Given the description of an element on the screen output the (x, y) to click on. 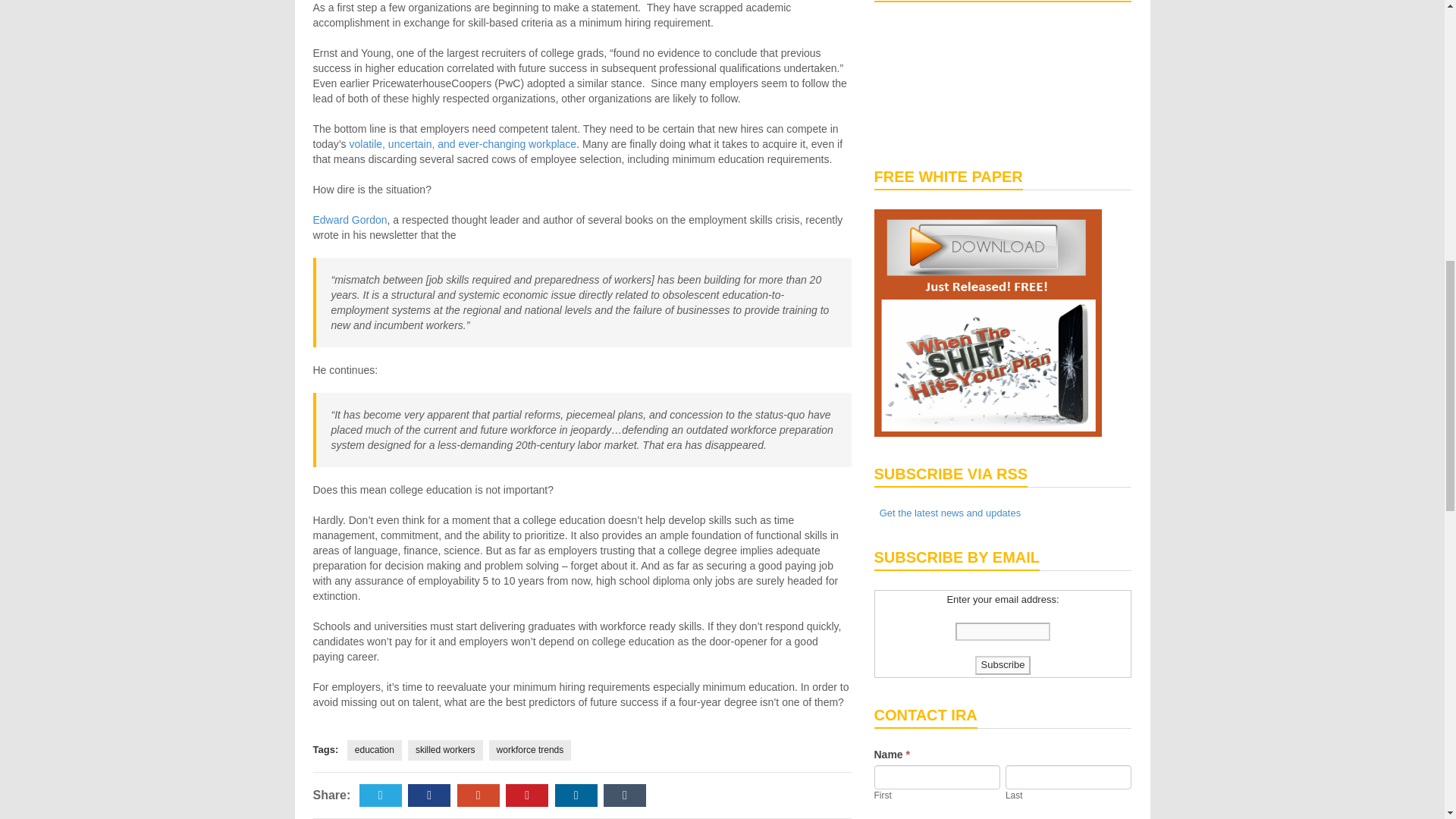
Edward Gordon (350, 219)
Subscribe to my feed (946, 512)
skilled workers (445, 750)
education (374, 750)
volatile, uncertain, and ever-changing workplace (462, 143)
Subscribe (1002, 665)
workforce trends (530, 750)
